Given the description of an element on the screen output the (x, y) to click on. 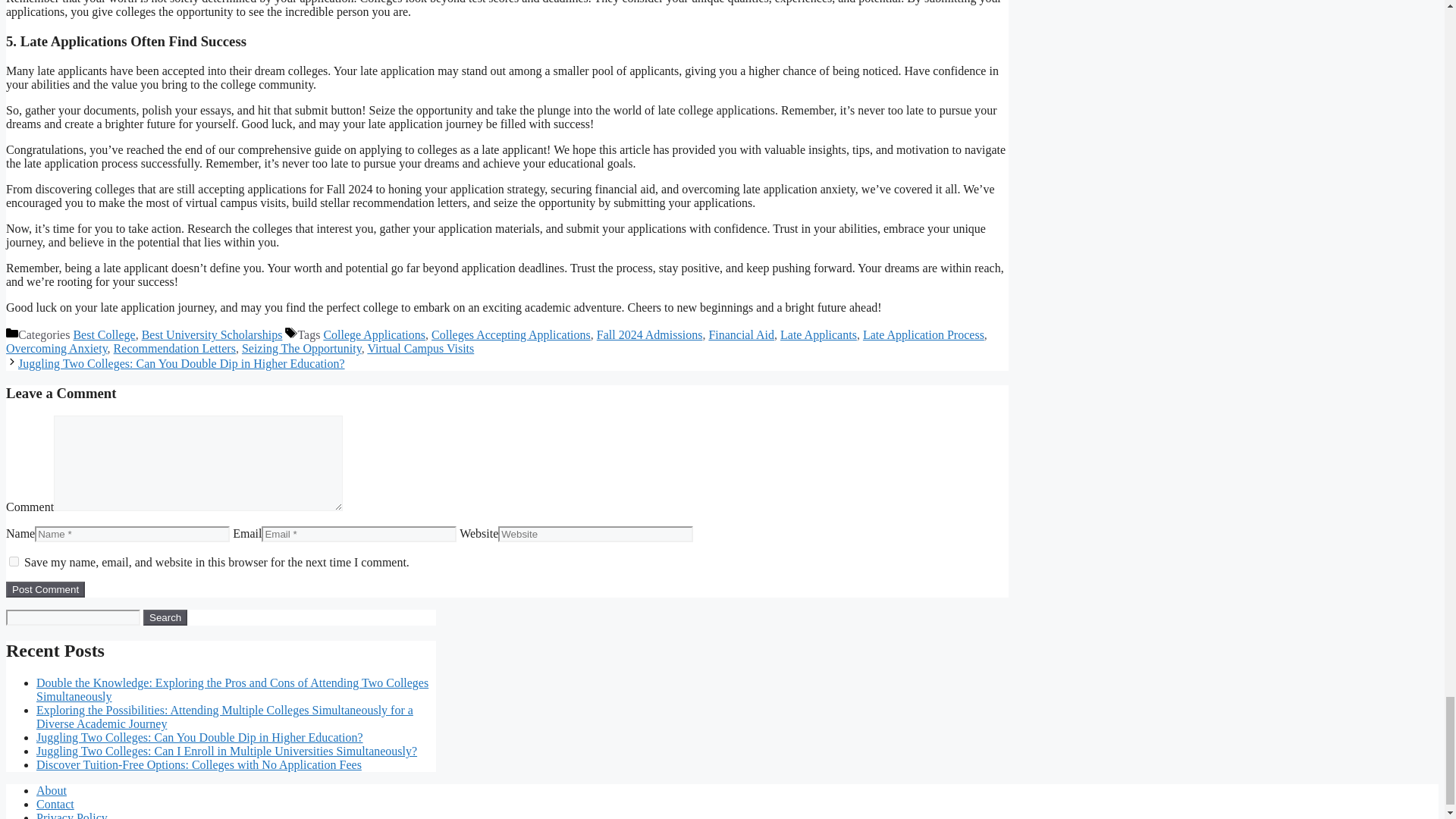
College Applications (374, 334)
About (51, 789)
Late Applicants (818, 334)
Post Comment (44, 589)
Best College (103, 334)
Late Application Process (923, 334)
